Given the description of an element on the screen output the (x, y) to click on. 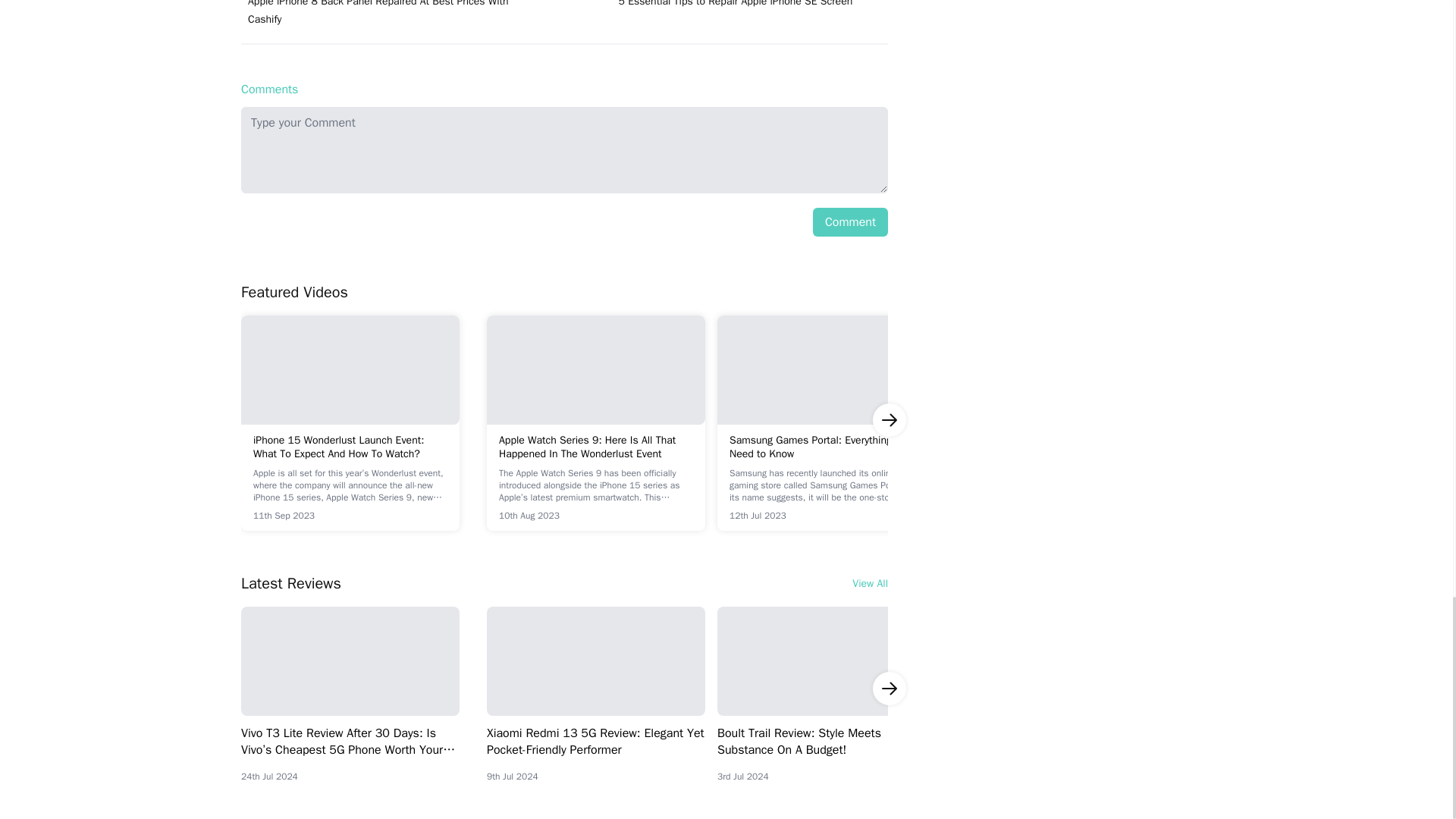
5 Essential Tips to Repair Apple iPhone SE Screen (753, 4)
View All (869, 583)
Samsung Games Portal: Everything You Need to Know (826, 450)
Comment (850, 222)
